Given the description of an element on the screen output the (x, y) to click on. 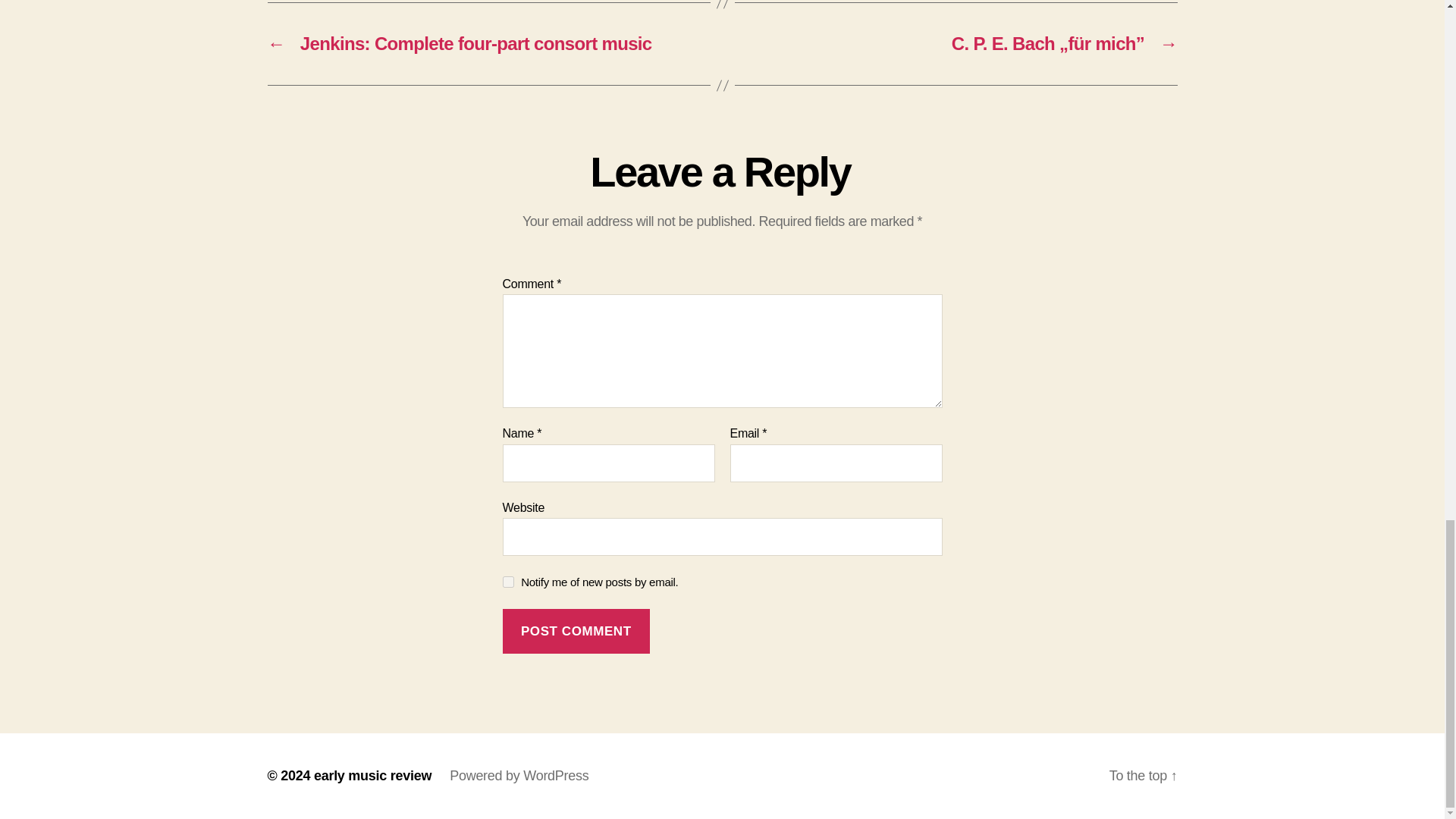
early music review (372, 775)
Powered by WordPress (518, 775)
Post Comment (575, 631)
subscribe (507, 582)
Post Comment (575, 631)
